Given the description of an element on the screen output the (x, y) to click on. 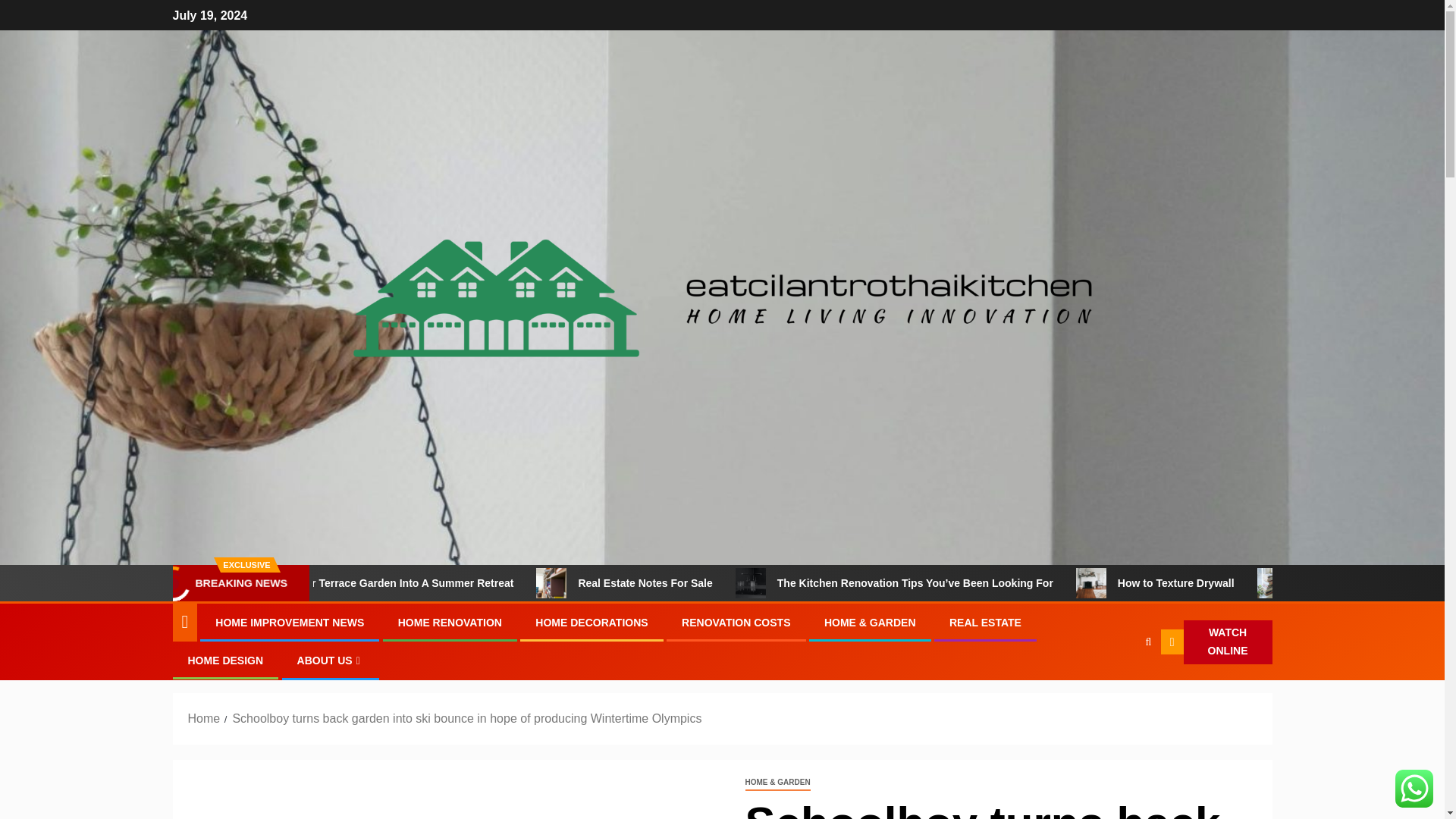
HOME DESIGN (225, 660)
How to Texture Drywall (1251, 583)
How to Texture Drywall (1149, 583)
ABOUT US (330, 660)
HOME DECORATIONS (591, 622)
Real Estate Notes For Sale (611, 583)
HOME IMPROVEMENT NEWS (289, 622)
RENOVATION COSTS (735, 622)
Search (1118, 688)
Real Estate Notes For Sale (722, 583)
HOME RENOVATION (449, 622)
Turn Your Terrace Garden Into A Summer Retreat (301, 583)
Home (204, 717)
REAL ESTATE (985, 622)
